Given the description of an element on the screen output the (x, y) to click on. 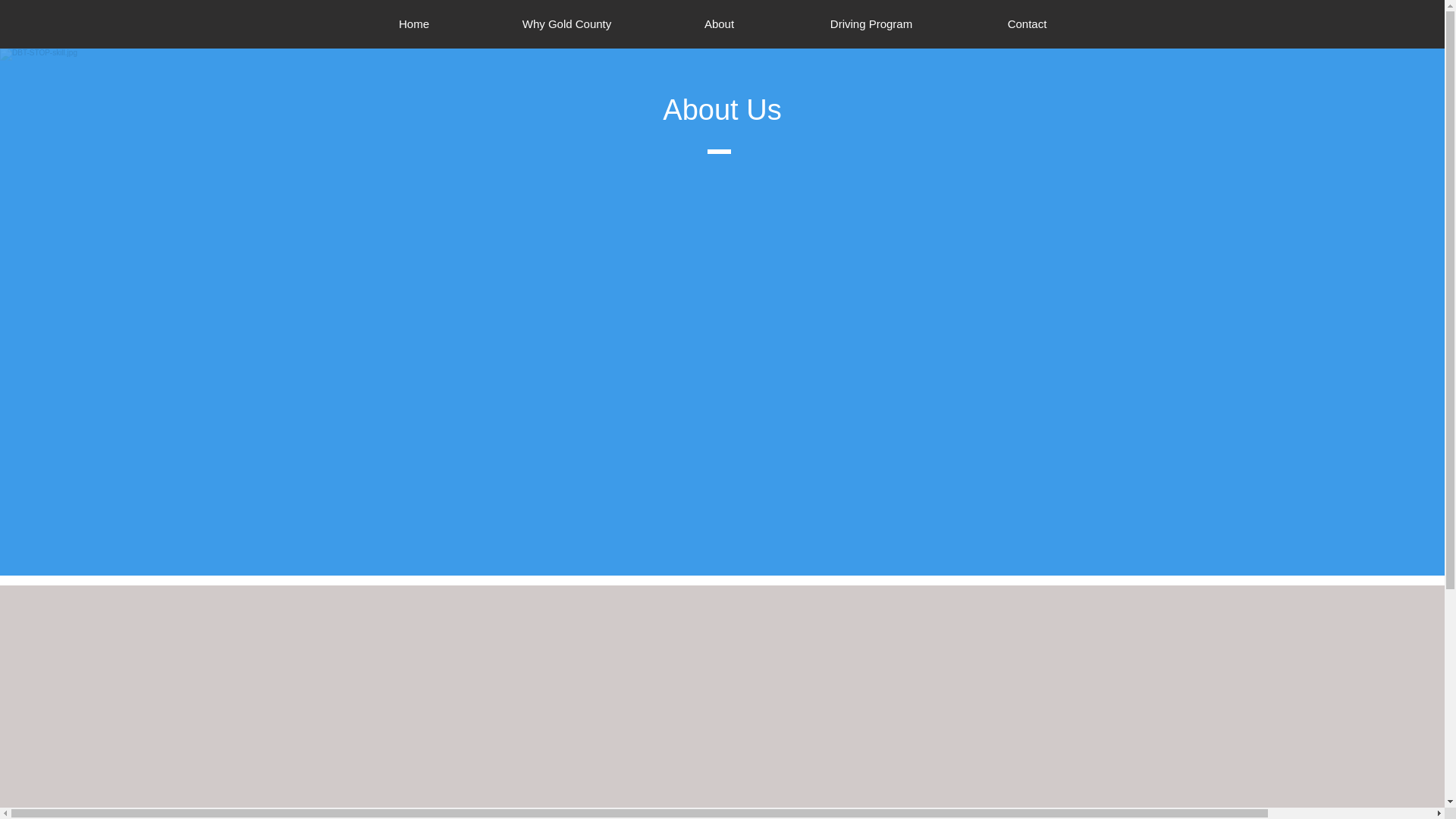
About (719, 24)
Contact (1026, 24)
Why Gold County (566, 24)
Driving Program (871, 24)
Home (413, 24)
